Given the description of an element on the screen output the (x, y) to click on. 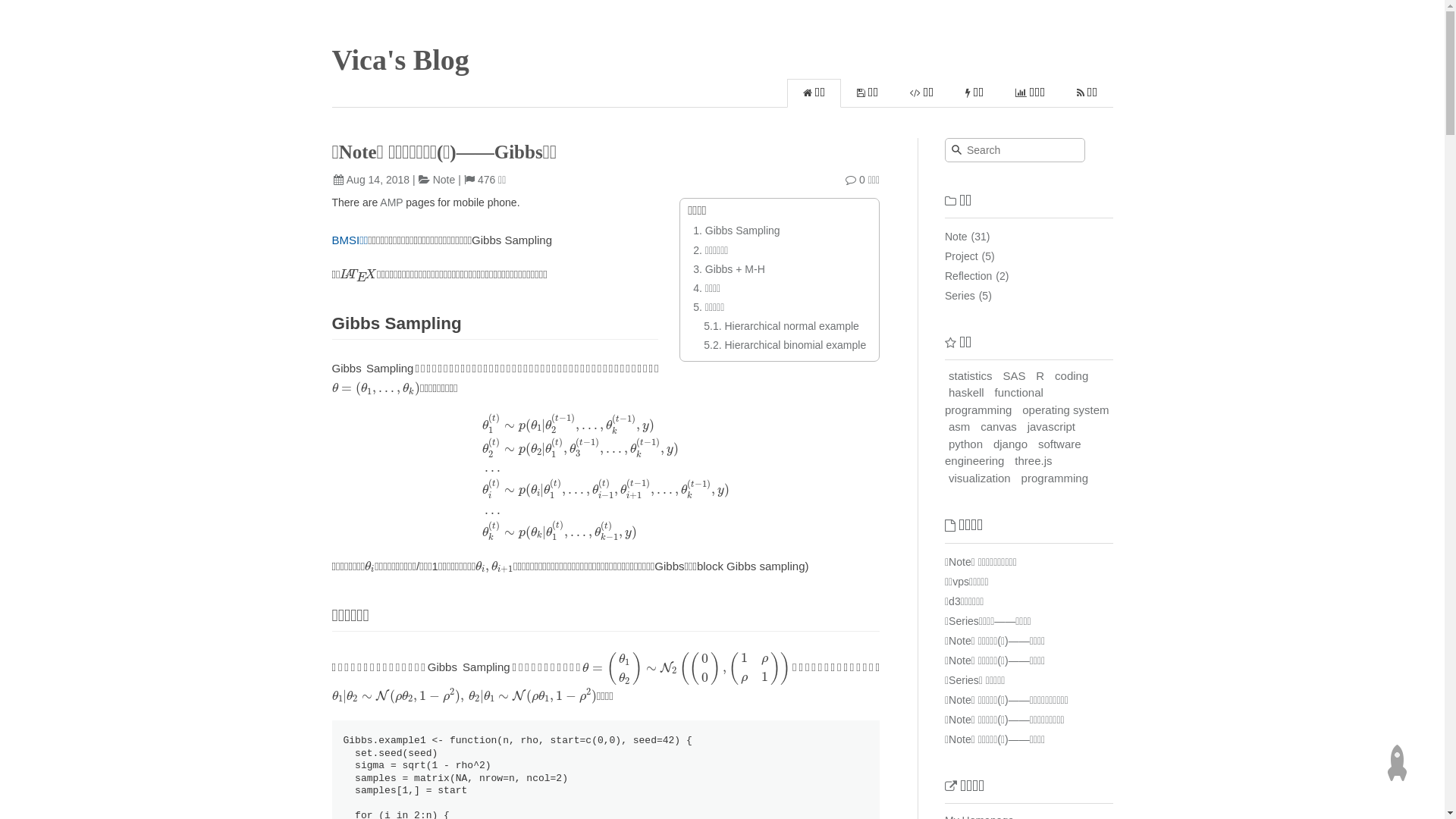
Note Element type: text (444, 179)
Reflection Element type: text (967, 275)
haskell Element type: text (966, 392)
programming Element type: text (1054, 477)
coding Element type: text (1071, 375)
Project Element type: text (961, 256)
functional programming Element type: text (993, 401)
visualization Element type: text (979, 477)
python Element type: text (965, 443)
three.js Element type: text (1032, 460)
javascript Element type: text (1051, 426)
Series Element type: text (959, 295)
5.1. Hierarchical normal example Element type: text (781, 326)
asm Element type: text (958, 426)
Note Element type: text (955, 236)
django Element type: text (1010, 443)
software engineering Element type: text (1012, 452)
R Element type: text (1040, 375)
operating system Element type: text (1065, 409)
SAS Element type: text (1013, 375)
1. Gibbs Sampling Element type: text (736, 230)
3. Gibbs + M-H Element type: text (729, 269)
statistics Element type: text (970, 375)
5.2. Hierarchical binomial example Element type: text (784, 344)
Vica's Blog Element type: text (400, 59)
canvas Element type: text (998, 426)
AMP Element type: text (390, 202)
